Given the description of an element on the screen output the (x, y) to click on. 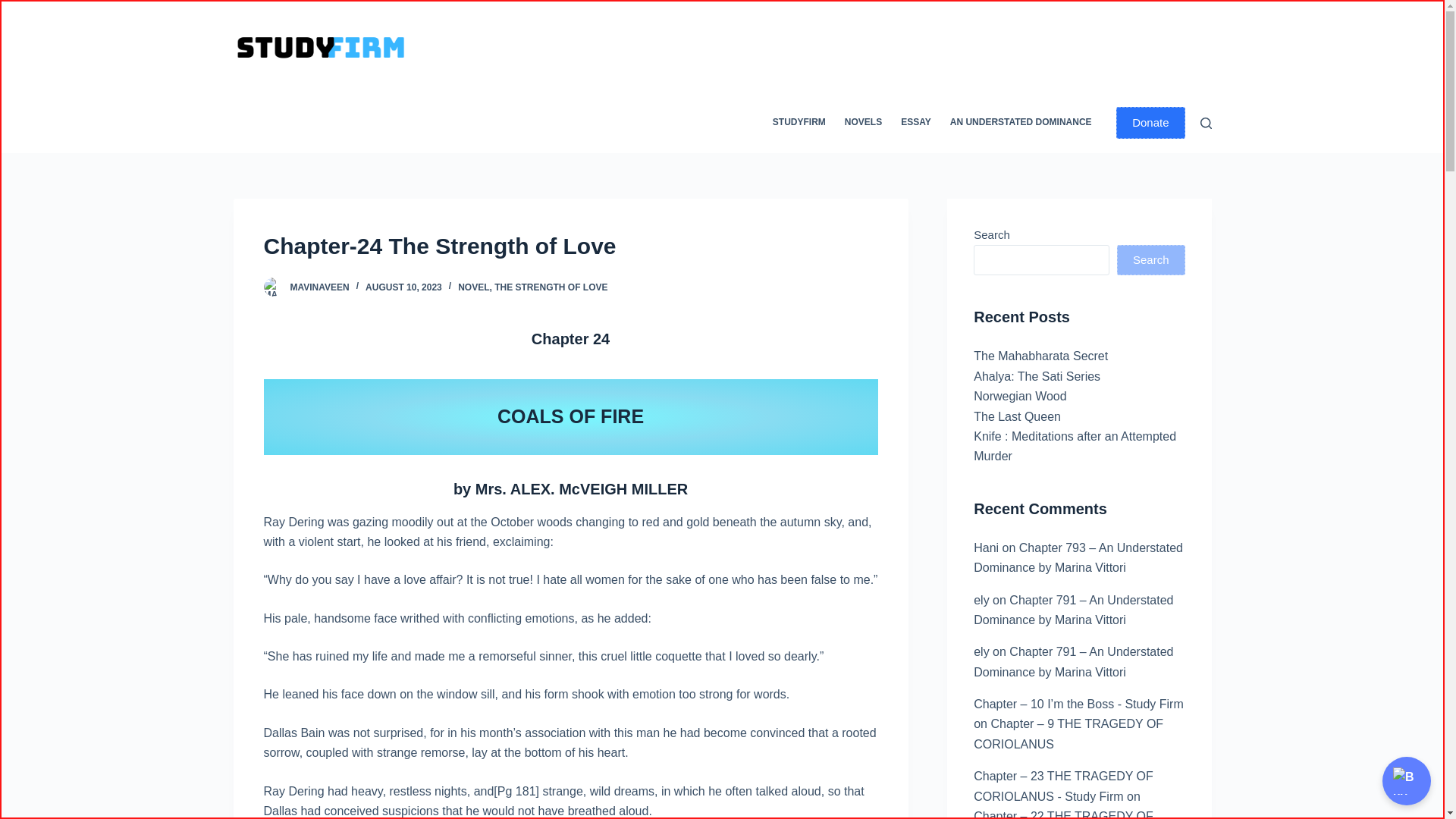
Posts by mavinaveen (319, 286)
STUDYFIRM (798, 122)
AN UNDERSTATED DOMINANCE (1020, 122)
Search (1150, 259)
NOVELS (862, 122)
Skip to content (15, 7)
THE STRENGTH OF LOVE (551, 286)
MAVINAVEEN (319, 286)
Ahalya: The Sati Series (1037, 376)
Hani (986, 547)
